Given the description of an element on the screen output the (x, y) to click on. 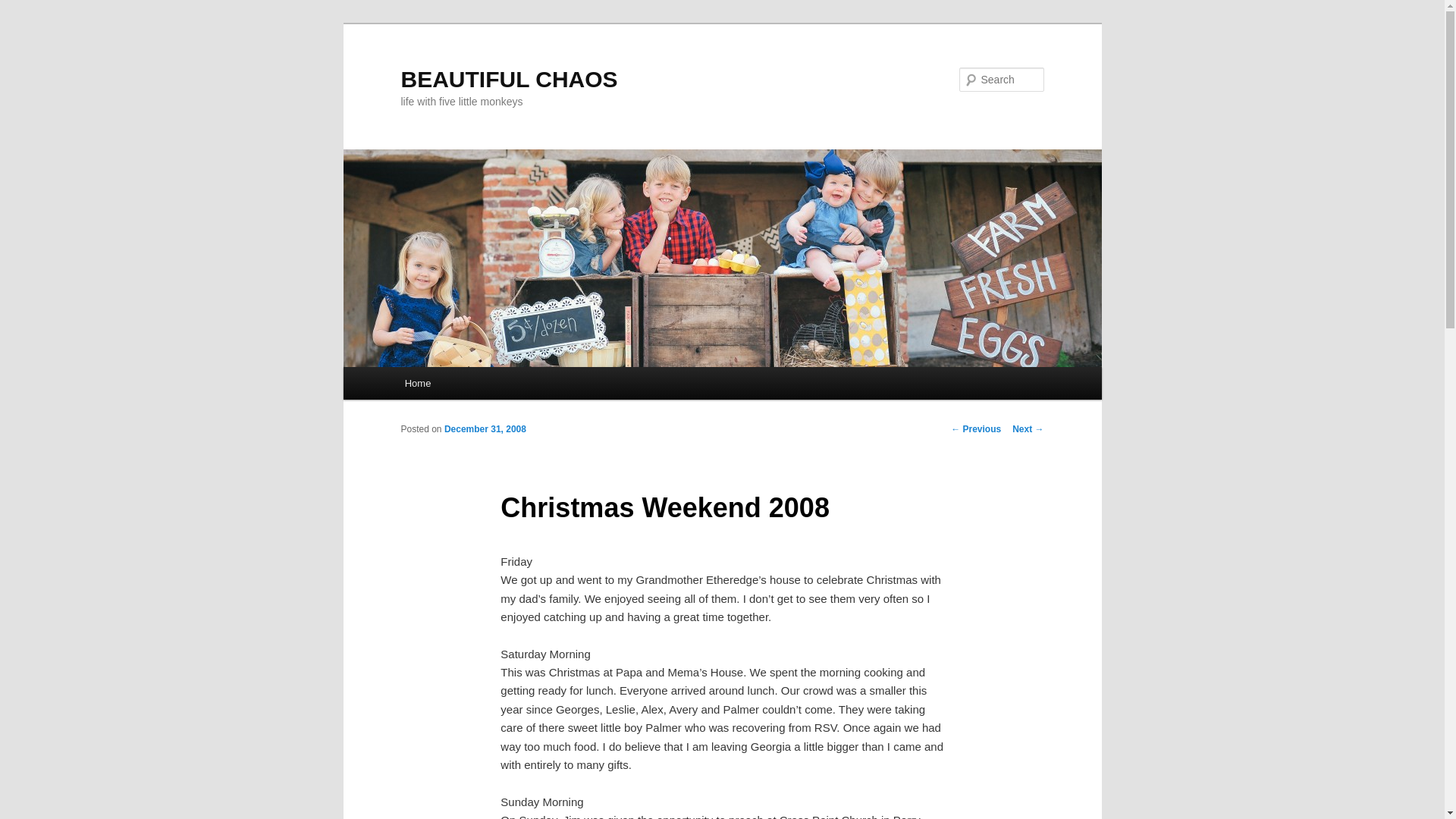
December 31, 2008 (484, 429)
BEAUTIFUL CHAOS (508, 78)
9:24 pm (484, 429)
Home (417, 382)
Search (24, 8)
